Given the description of an element on the screen output the (x, y) to click on. 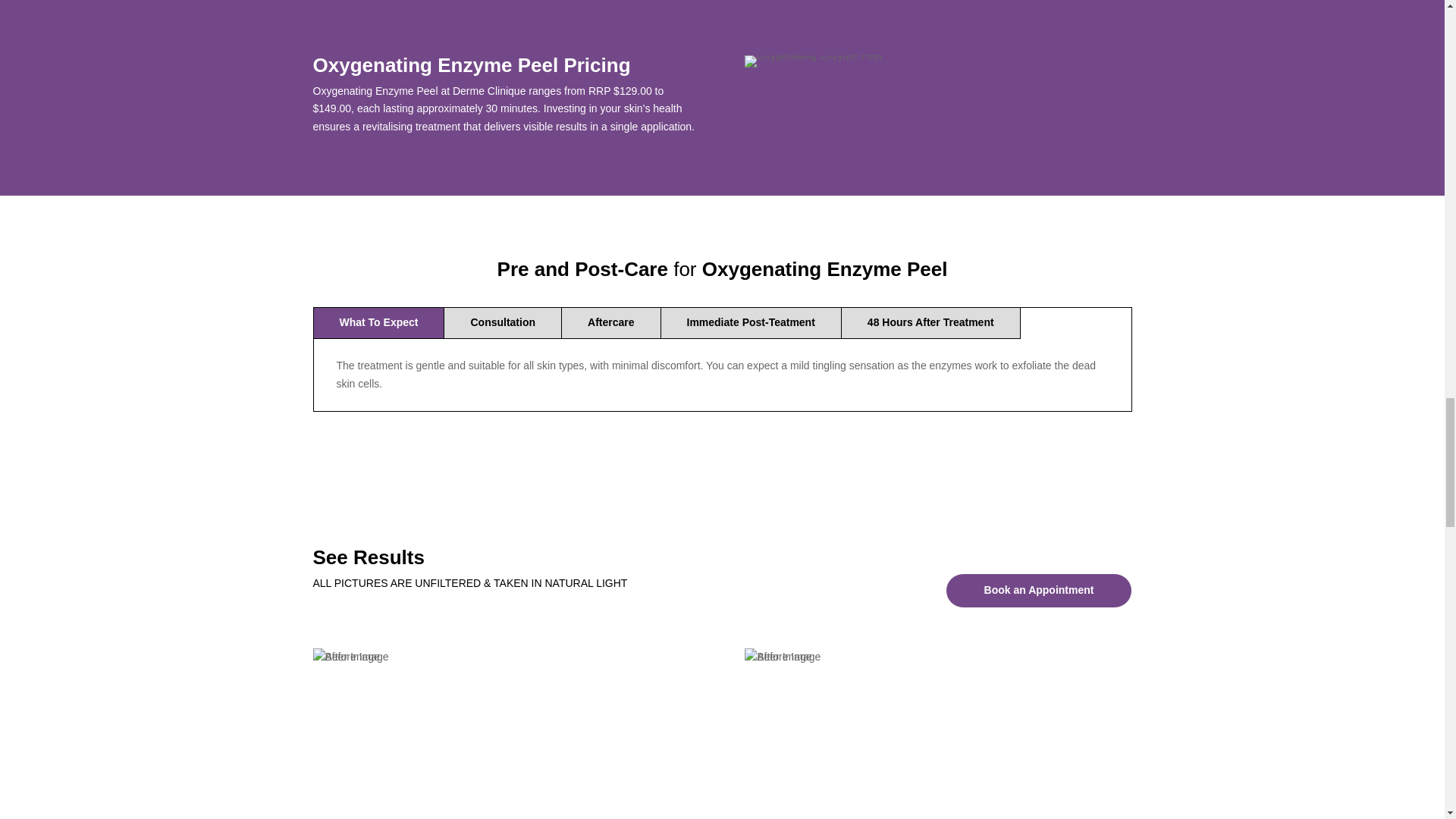
Oxygenating Enzyme Peel (813, 61)
